Given the description of an element on the screen output the (x, y) to click on. 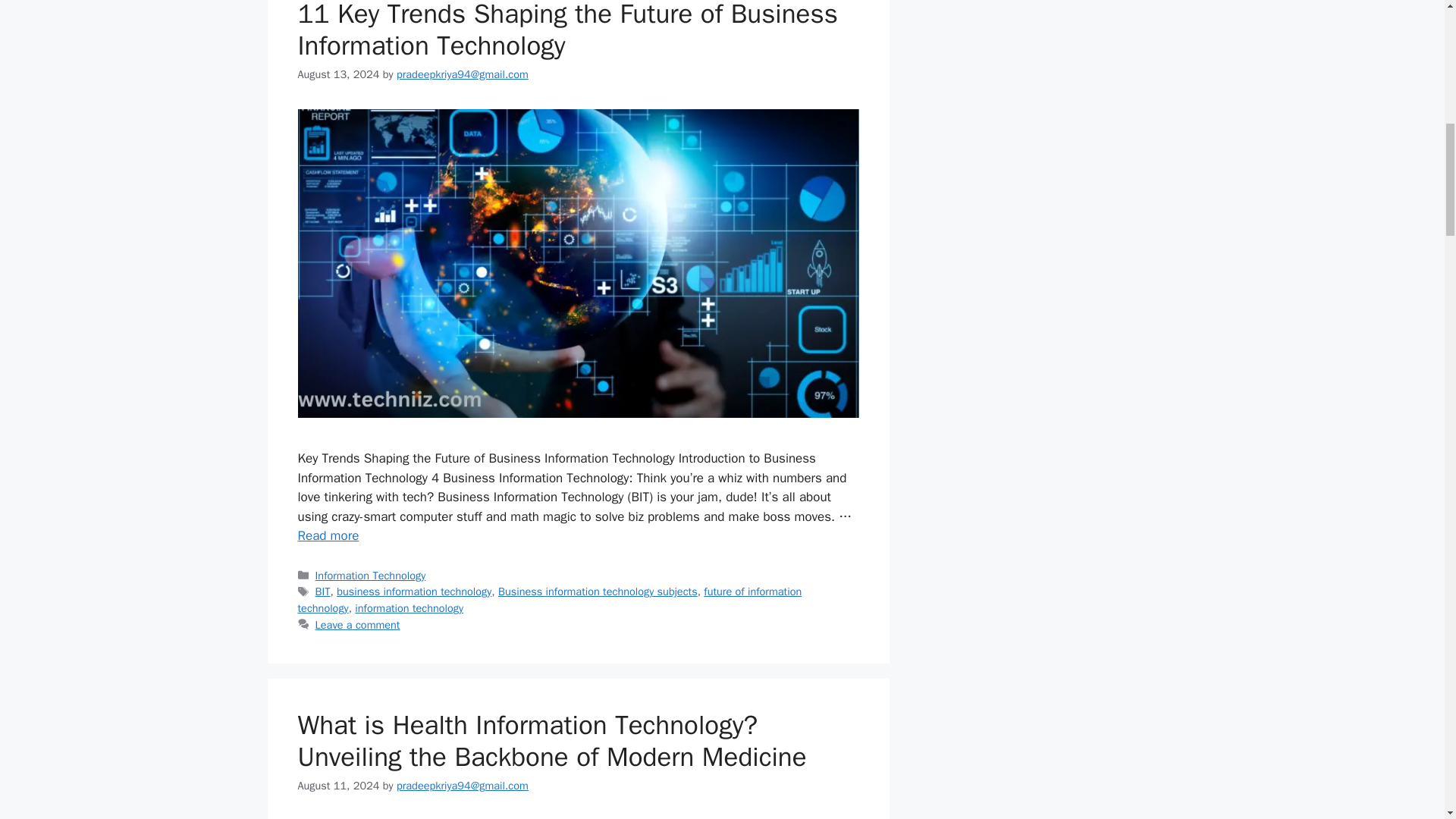
Information Technology (370, 575)
information technology (409, 608)
Business information technology subjects (597, 591)
future of information technology (549, 599)
BIT (322, 591)
Leave a comment (357, 624)
